Given the description of an element on the screen output the (x, y) to click on. 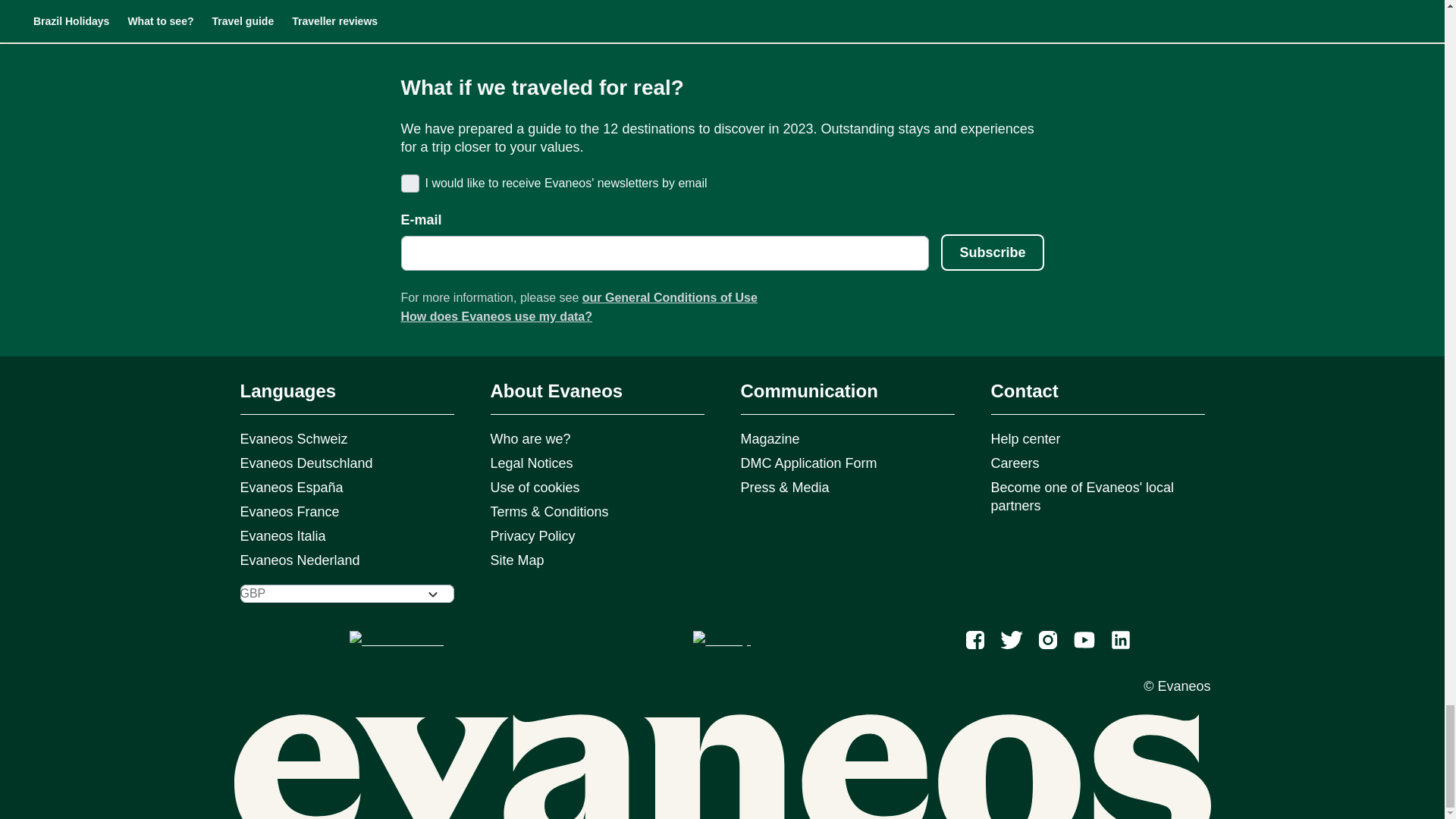
The best local agencies (722, 3)
Who are we? (559, 3)
The advantages of Evaneos (300, 3)
on (408, 182)
Our Better Trips promise (430, 3)
Compensated carbon footprint (861, 3)
